Given the description of an element on the screen output the (x, y) to click on. 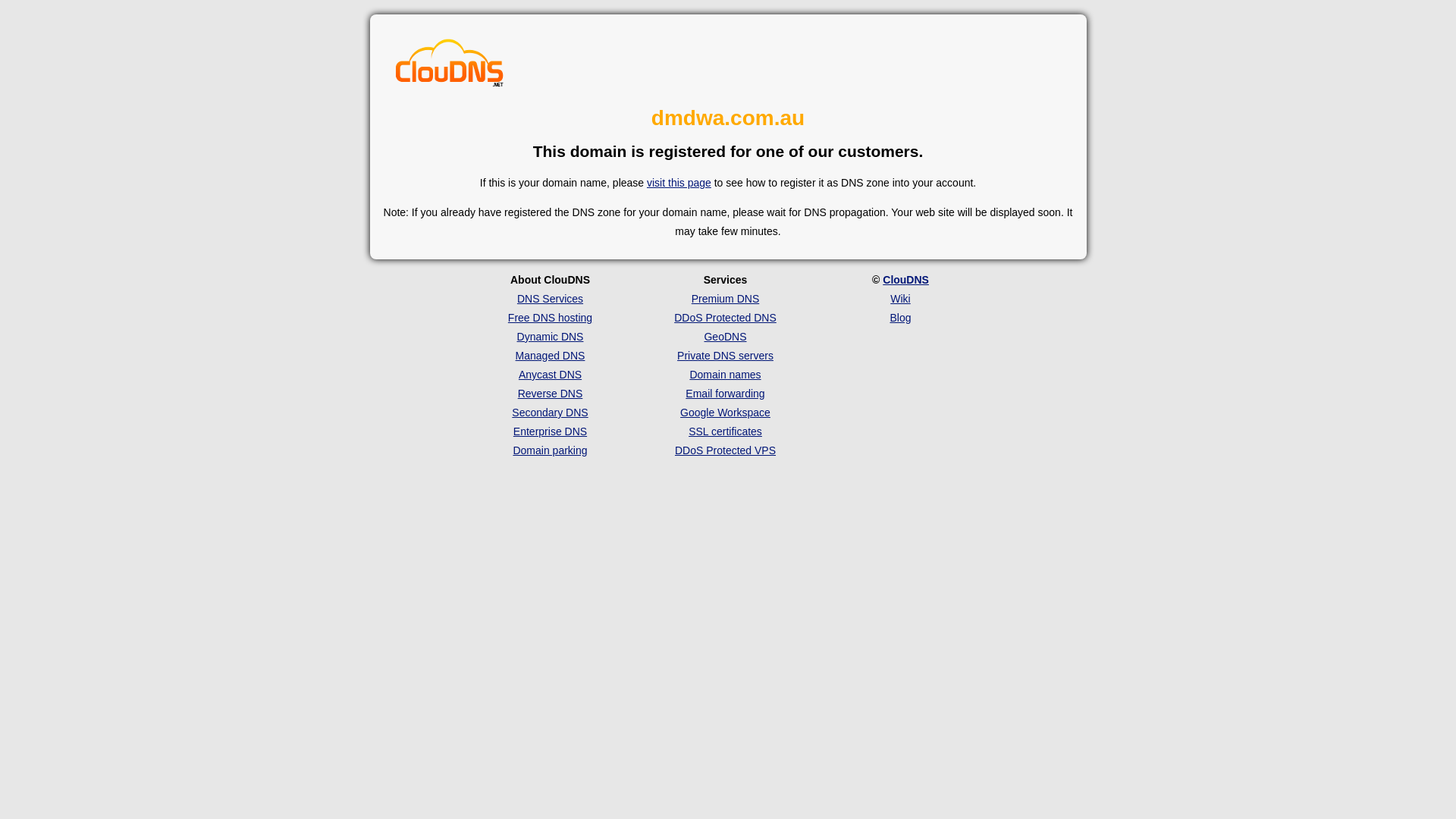
Domain names Element type: text (724, 374)
Blog Element type: text (899, 317)
SSL certificates Element type: text (725, 431)
Email forwarding Element type: text (724, 393)
Free DNS hosting Element type: text (550, 317)
ClouDNS Element type: text (905, 279)
Reverse DNS Element type: text (550, 393)
Anycast DNS Element type: text (549, 374)
Enterprise DNS Element type: text (549, 431)
Dynamic DNS Element type: text (550, 336)
Managed DNS Element type: text (550, 355)
Premium DNS Element type: text (725, 298)
Secondary DNS Element type: text (549, 412)
visit this page Element type: text (678, 182)
Google Workspace Element type: text (725, 412)
GeoDNS Element type: text (724, 336)
DDoS Protected VPS Element type: text (724, 450)
Private DNS servers Element type: text (725, 355)
DNS Services Element type: text (550, 298)
Wiki Element type: text (900, 298)
DDoS Protected DNS Element type: text (725, 317)
Domain parking Element type: text (549, 450)
Cloud DNS Element type: hover (449, 63)
